Given the description of an element on the screen output the (x, y) to click on. 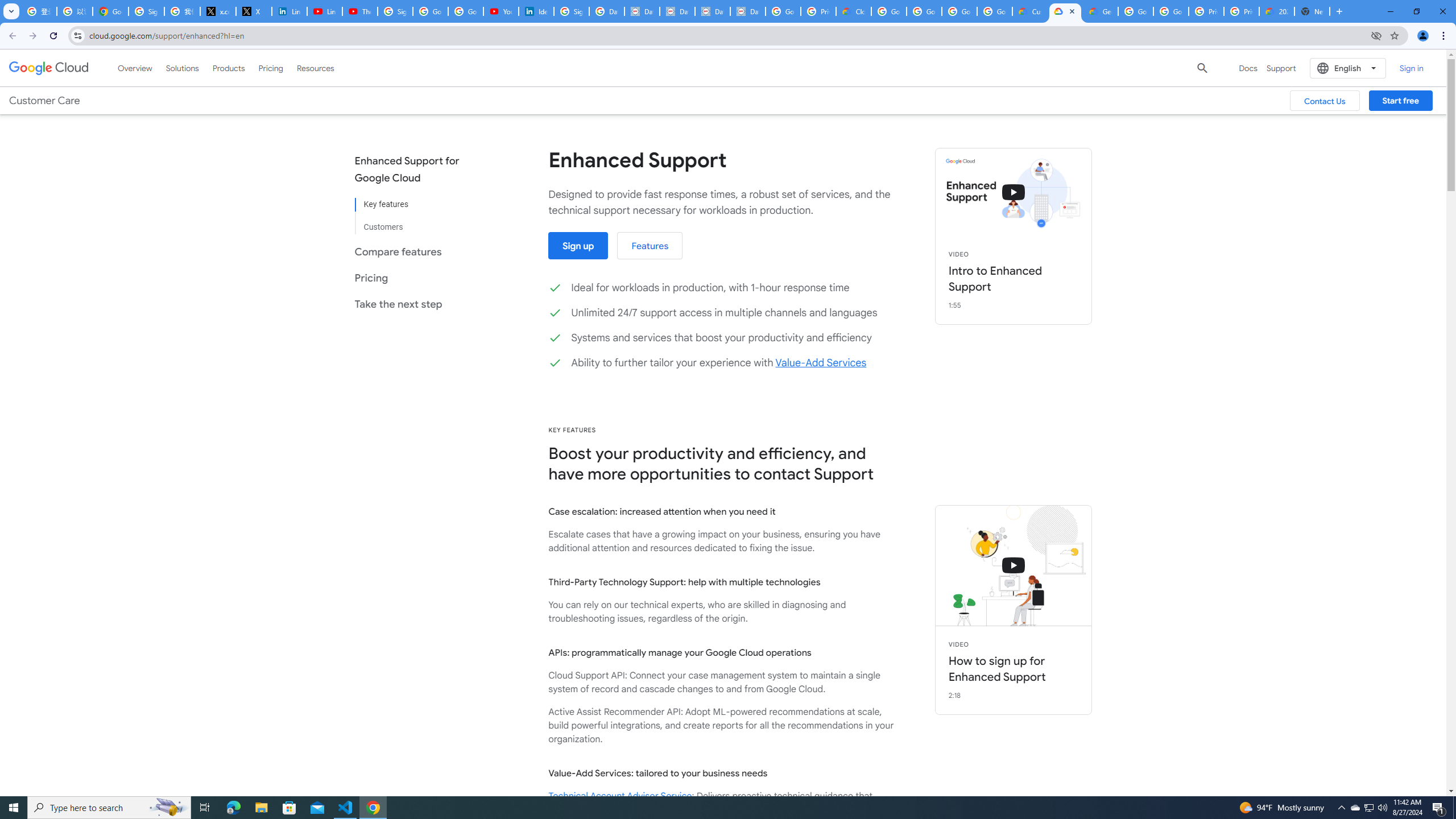
Enhanced Support in action (1013, 192)
Enhanced Support | Google Cloud (1064, 11)
Cloud Data Processing Addendum | Google Cloud (853, 11)
Docs (1248, 67)
Sign in - Google Accounts (571, 11)
